Given the description of an element on the screen output the (x, y) to click on. 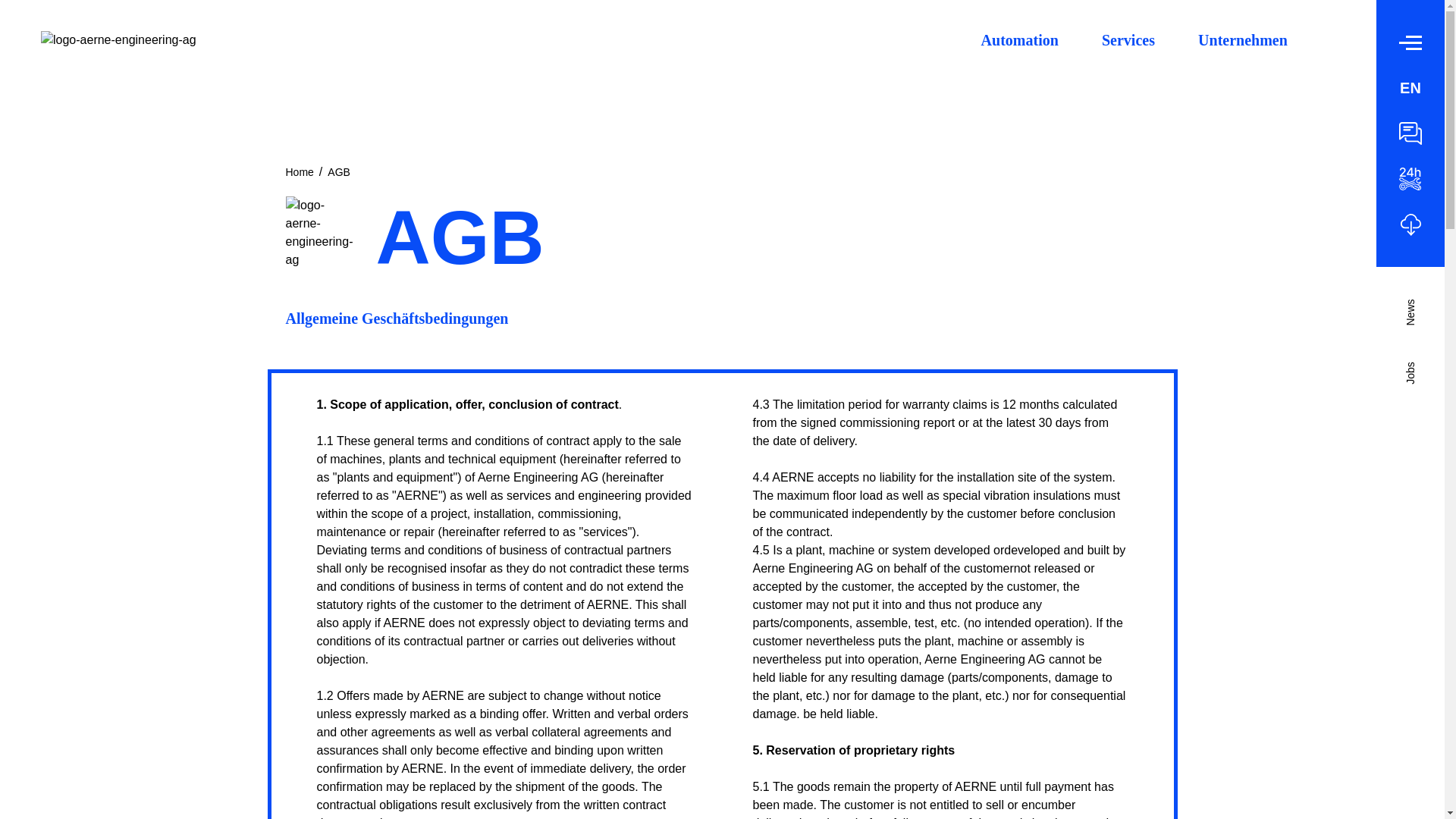
Home (299, 172)
Unternehmen (1242, 48)
Automation (1019, 54)
AGB (338, 172)
Services (1128, 50)
